Given the description of an element on the screen output the (x, y) to click on. 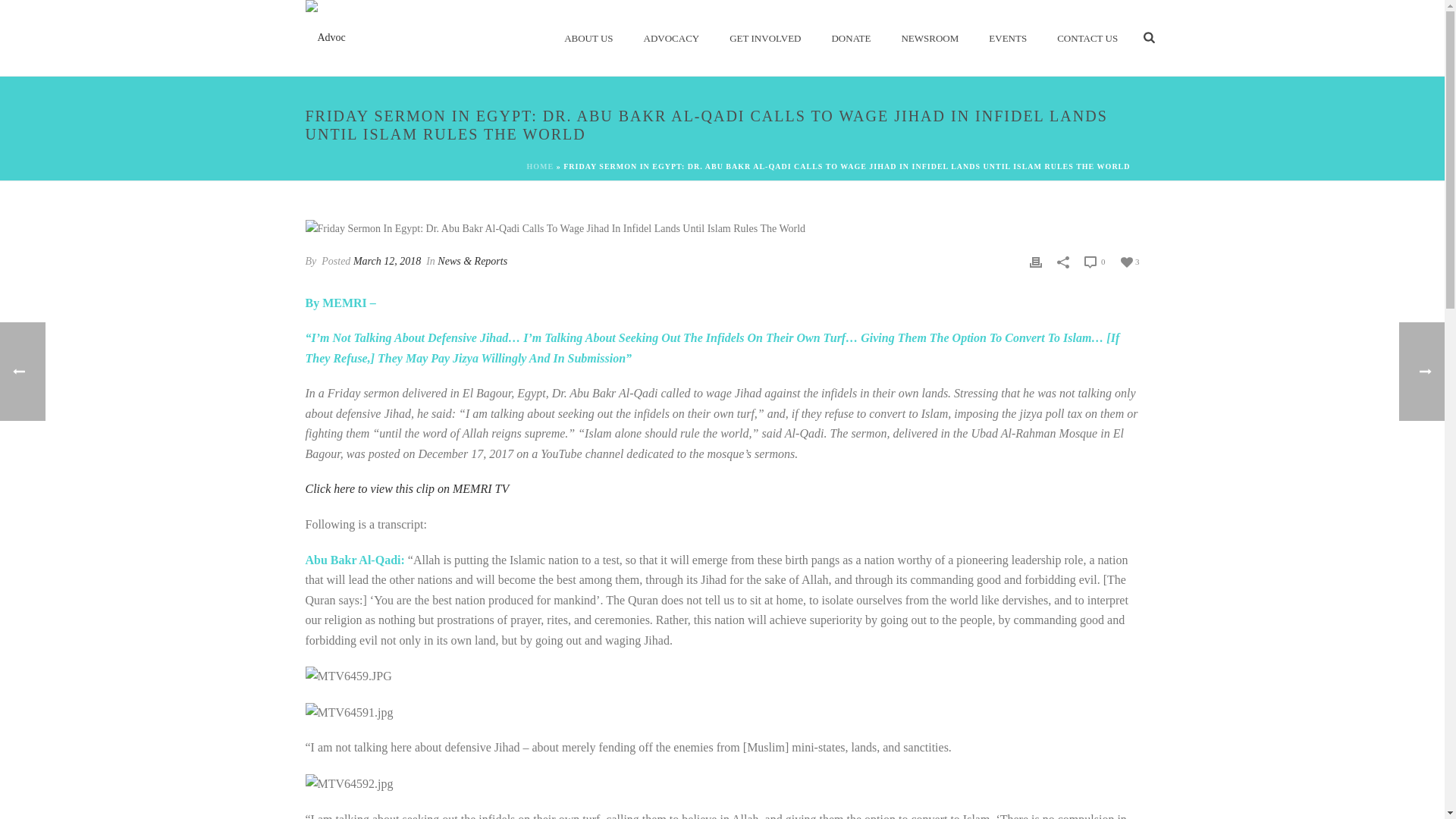
ABOUT US (587, 38)
ADVOCACY (671, 38)
CONTACT US (1087, 38)
EVENTS (1008, 38)
DONATE (850, 38)
EVENTS (1008, 38)
GET INVOLVED (764, 38)
NEWSROOM (929, 38)
NEWSROOM (929, 38)
GET INVOLVED (764, 38)
CONTACT US (1087, 38)
ADVOCACY (671, 38)
ABOUT US (587, 38)
DONATE (850, 38)
